Given the description of an element on the screen output the (x, y) to click on. 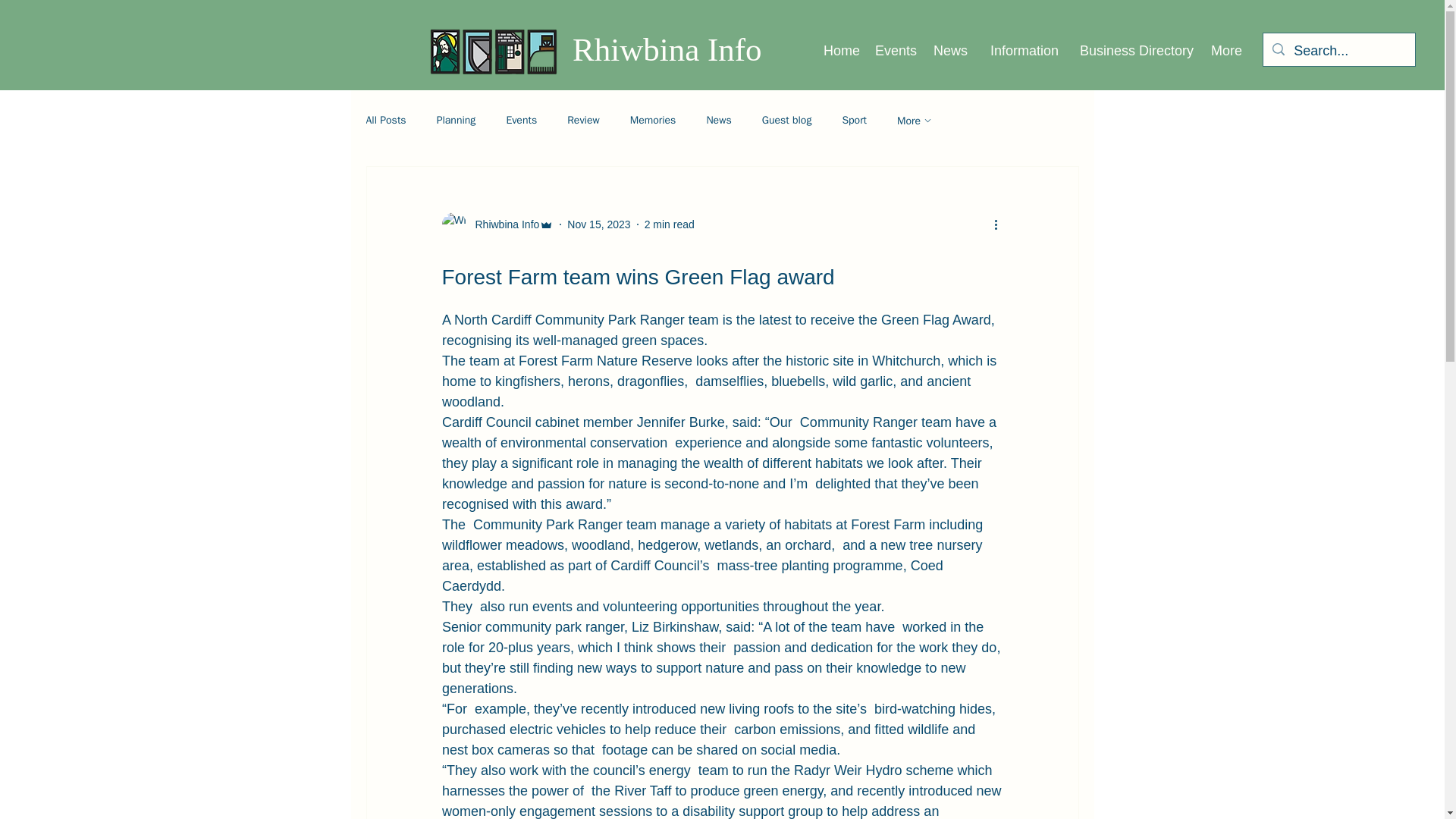
Rhiwbina Info (497, 224)
Business Directory (1133, 49)
Nov 15, 2023 (598, 224)
Rhiwbina Info (501, 224)
2 min read (669, 224)
Sport (853, 120)
News (718, 120)
Guest blog (786, 120)
Planning (456, 120)
News (949, 49)
Events (521, 120)
Rhiwbina Info (666, 49)
Review (583, 120)
Information (1020, 49)
Memories (653, 120)
